Given the description of an element on the screen output the (x, y) to click on. 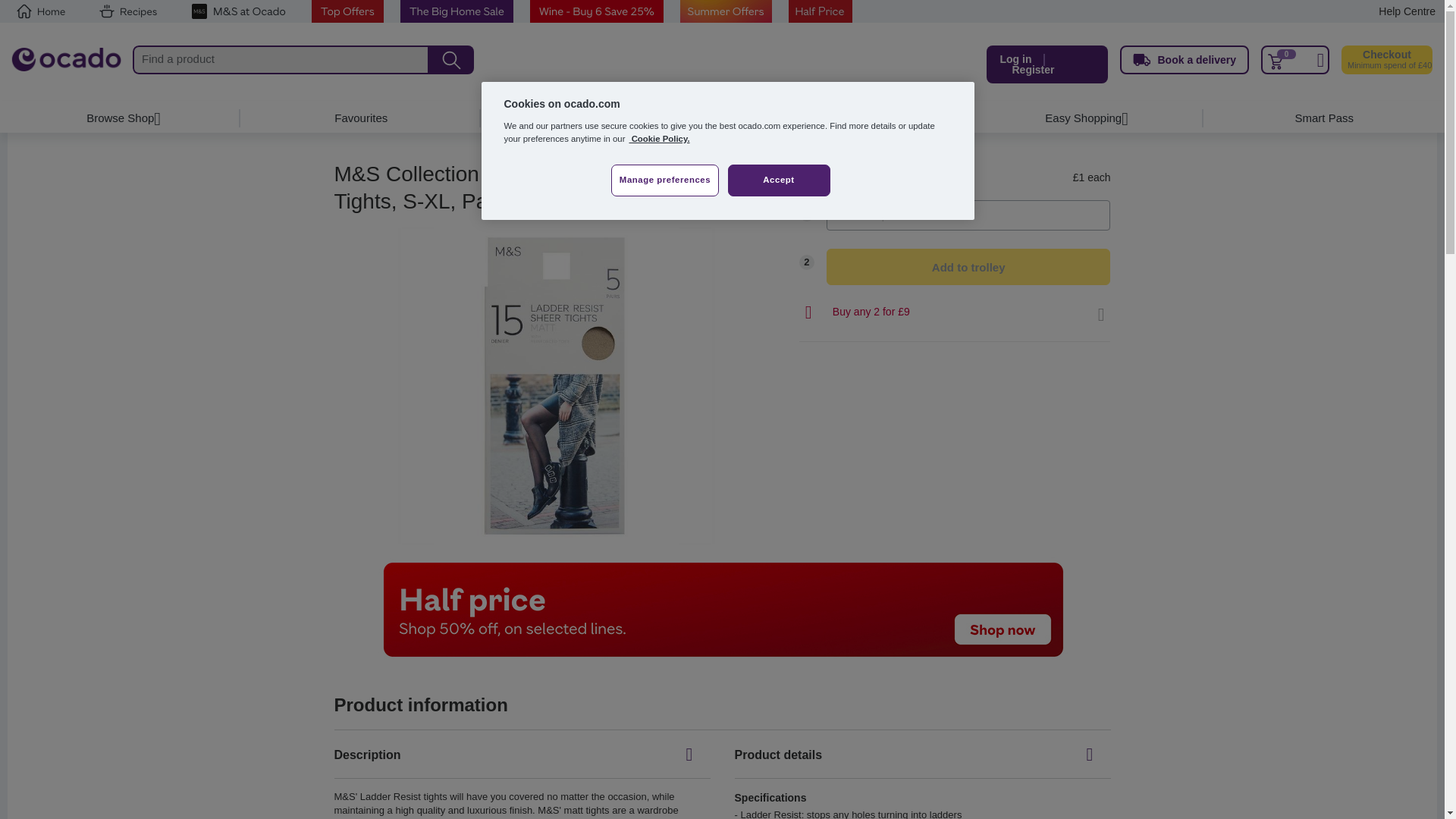
Half Price (820, 11)
Reviews 1.0 of 5 (598, 205)
Description (521, 754)
Find a product (280, 59)
Register (1032, 69)
Recipes (127, 11)
0 (1294, 59)
Summer Offers (725, 11)
Inspire Me (842, 118)
Easy Shopping (1083, 118)
